Given the description of an element on the screen output the (x, y) to click on. 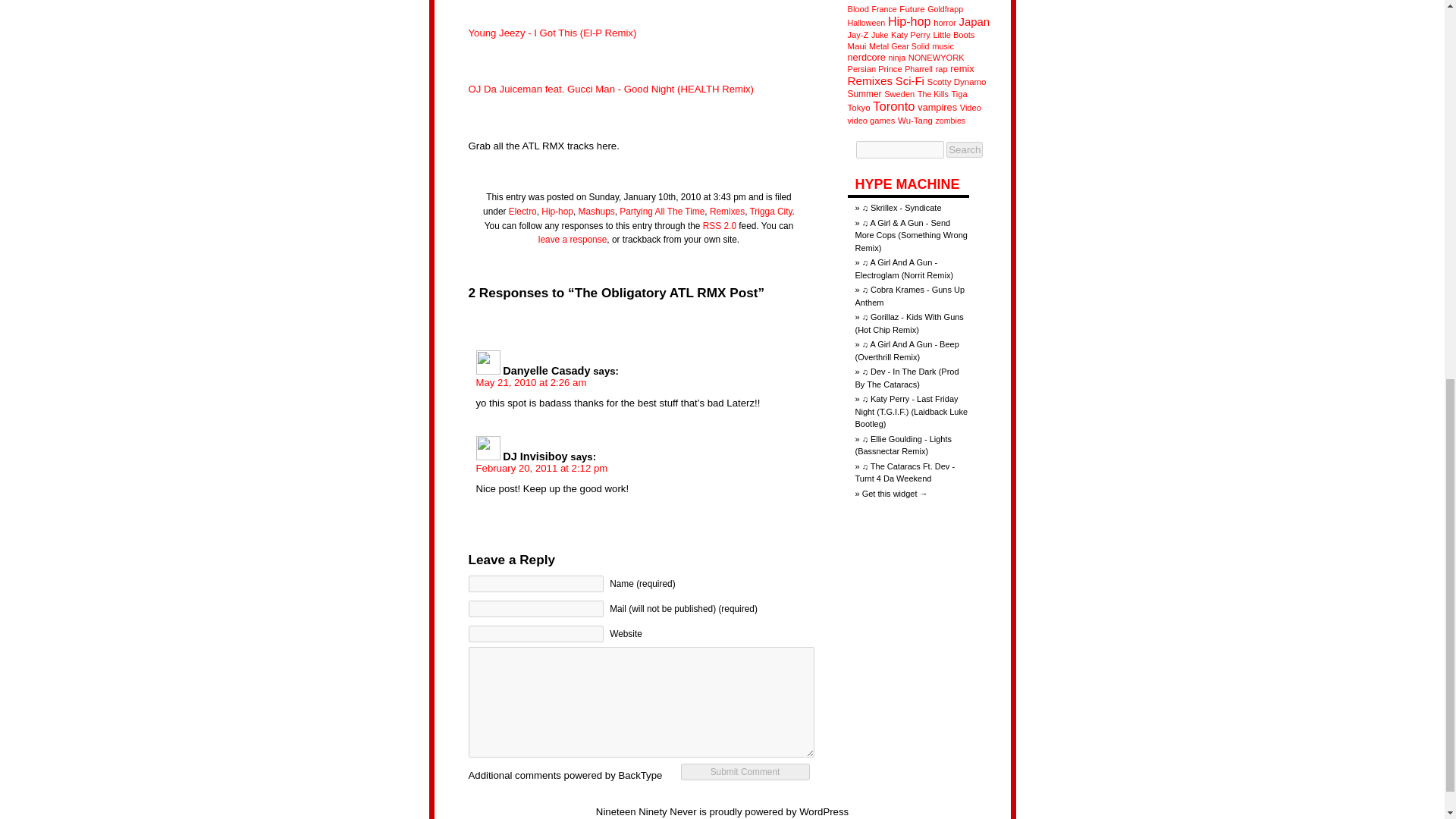
May 21, 2010 at 2:26 am (531, 382)
View all posts in Remixes (727, 211)
leave a response (572, 239)
View all posts in Trigga City (770, 211)
Remixes (727, 211)
View all posts in Partying All The Time (662, 211)
View all posts in Mashups (596, 211)
Hip-hop (557, 211)
Submit Comment (745, 771)
View all posts in Hip-hop (557, 211)
Search (964, 149)
View all posts in Electro (522, 211)
Mashups (596, 211)
Submit Comment (745, 771)
Partying All The Time (662, 211)
